Given the description of an element on the screen output the (x, y) to click on. 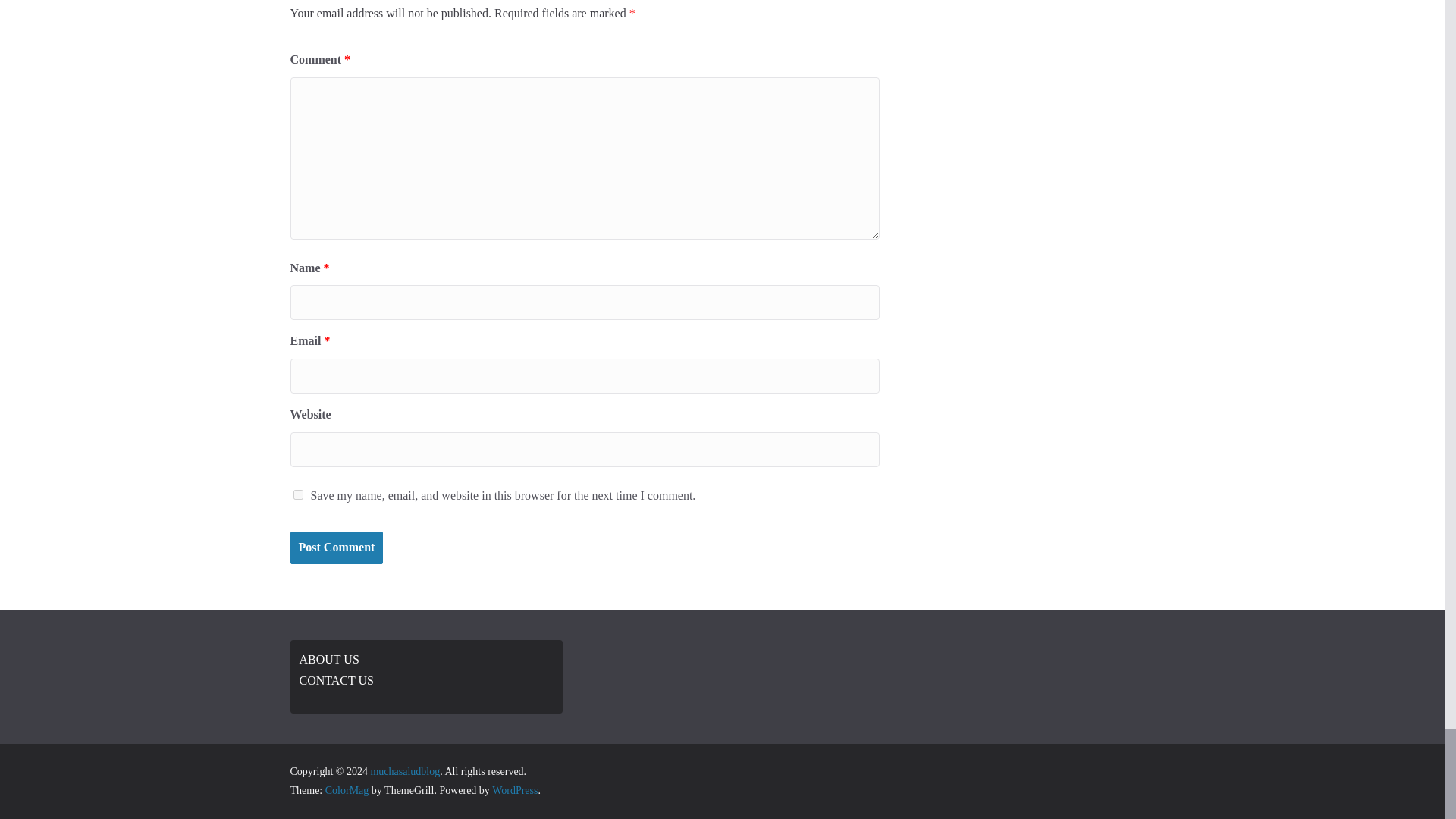
ColorMag (346, 790)
Post Comment (335, 547)
yes (297, 494)
WordPress (514, 790)
muchasaludblog (404, 771)
Post Comment (335, 547)
